Given the description of an element on the screen output the (x, y) to click on. 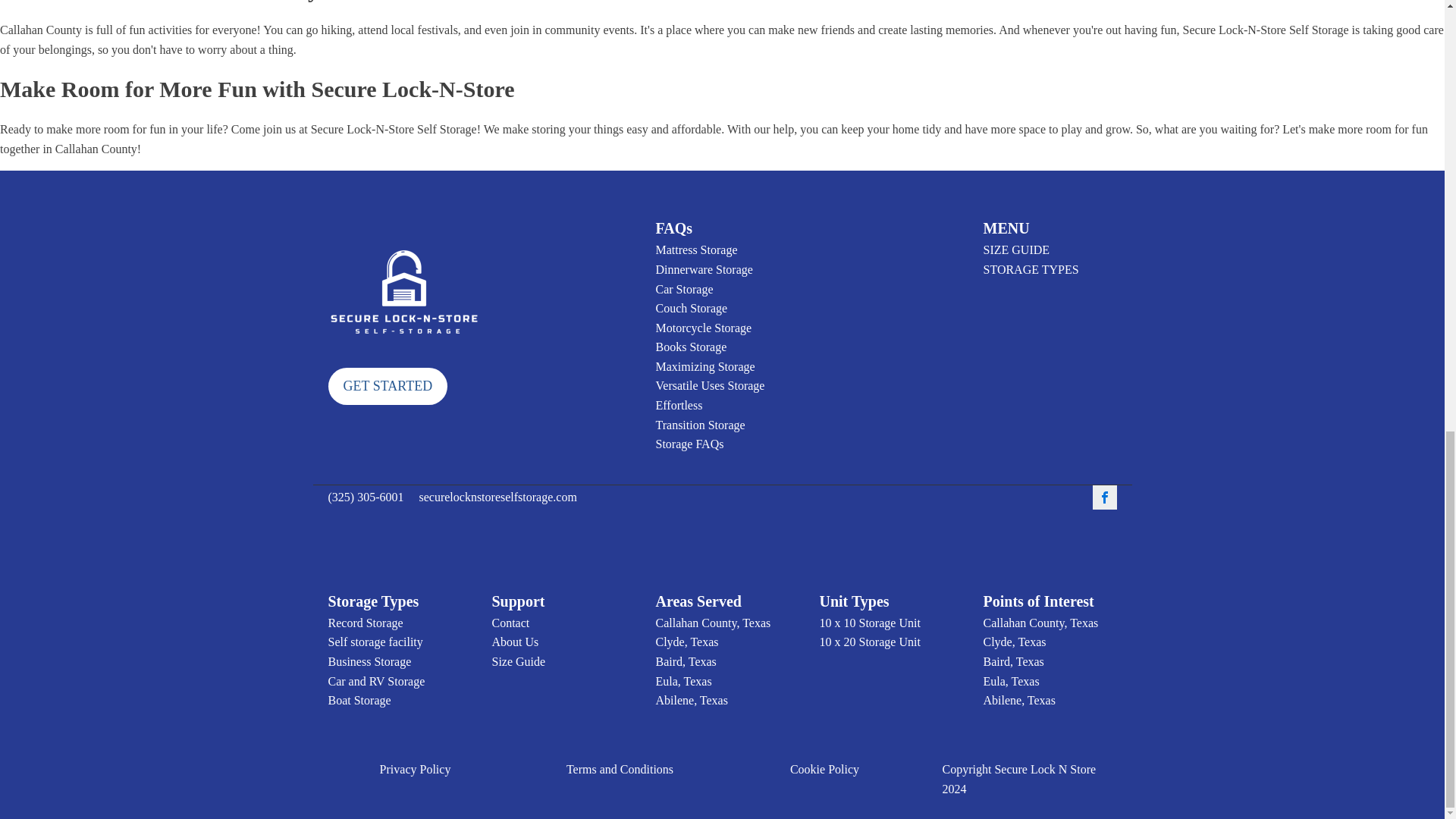
About Us (515, 641)
Car Storage (684, 289)
Mattress Storage (695, 250)
Effortless Transition Storage (722, 414)
Motorcycle Storage (703, 328)
Books Storage (690, 347)
Versatile Uses Storage (709, 385)
Size Guide (518, 661)
Self storage facility (374, 641)
Callahan County, Texas (712, 623)
